Given the description of an element on the screen output the (x, y) to click on. 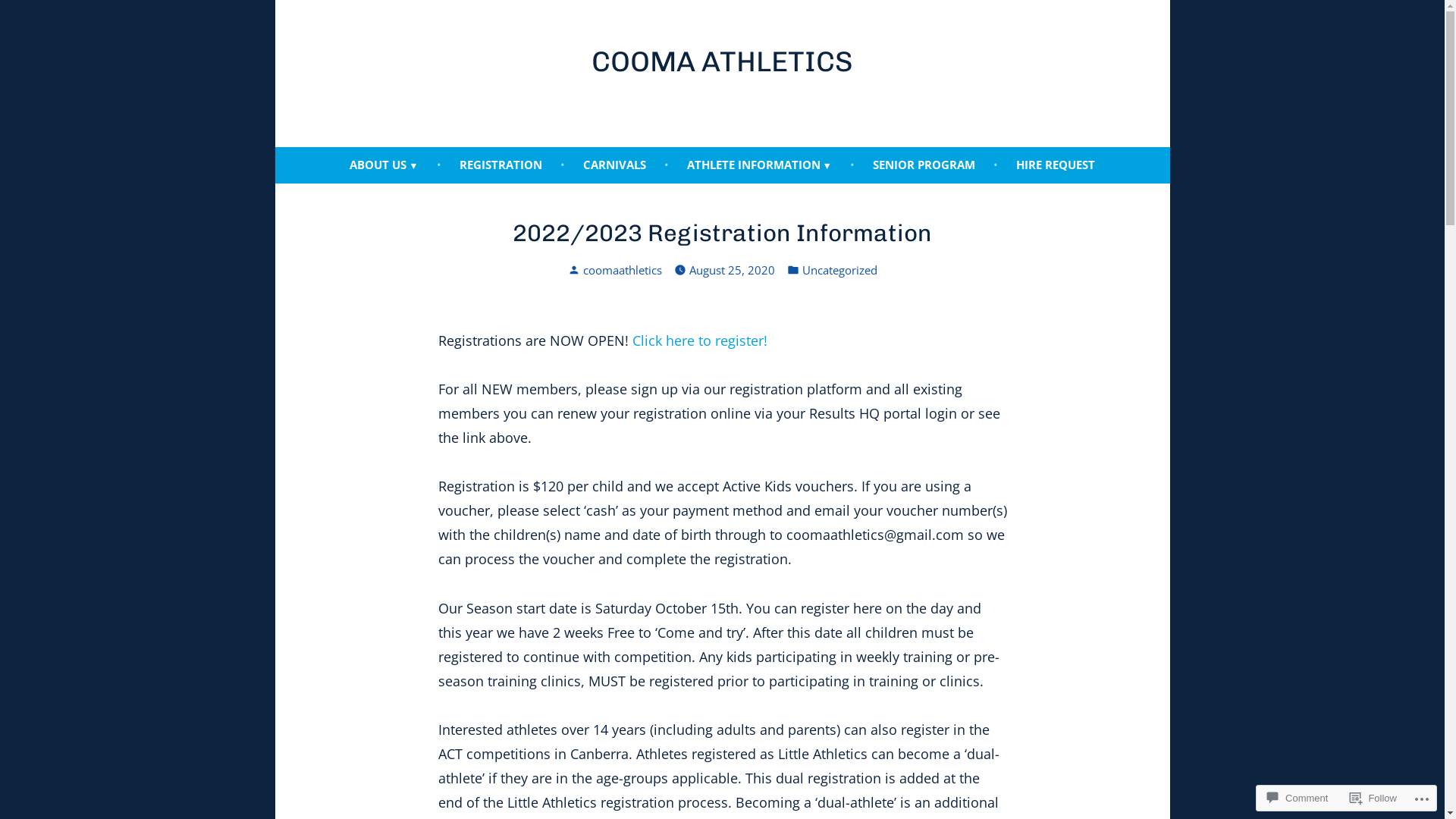
REGISTRATION Element type: text (500, 165)
SENIOR PROGRAM Element type: text (923, 165)
Uncategorized Element type: text (839, 270)
Click here to register! Element type: text (699, 340)
COOMA ATHLETICS Element type: text (722, 61)
HIRE REQUEST Element type: text (1055, 165)
CARNIVALS Element type: text (613, 165)
coomaathletics Element type: text (621, 269)
ABOUT US Element type: text (383, 165)
Comment Element type: text (1297, 797)
ATHLETE INFORMATION Element type: text (759, 165)
August 25, 2020 Element type: text (731, 270)
Follow Element type: text (1372, 797)
